Given the description of an element on the screen output the (x, y) to click on. 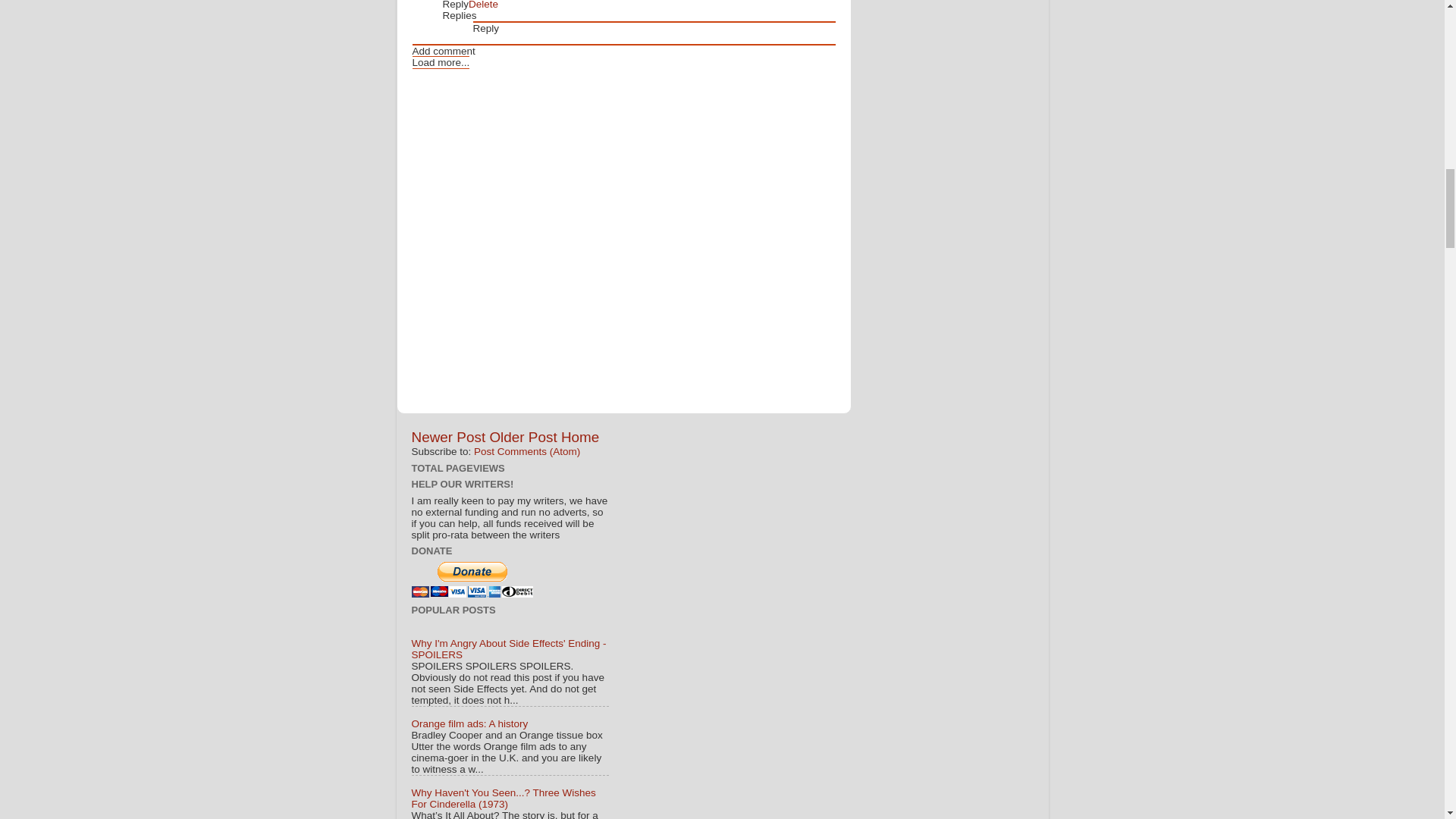
Load more... (441, 62)
Replies (459, 15)
Add comment (444, 50)
Older Post (522, 437)
Reply (486, 28)
Reply (455, 4)
Newer Post (447, 437)
Newer Post (447, 437)
Delete (482, 4)
